Given the description of an element on the screen output the (x, y) to click on. 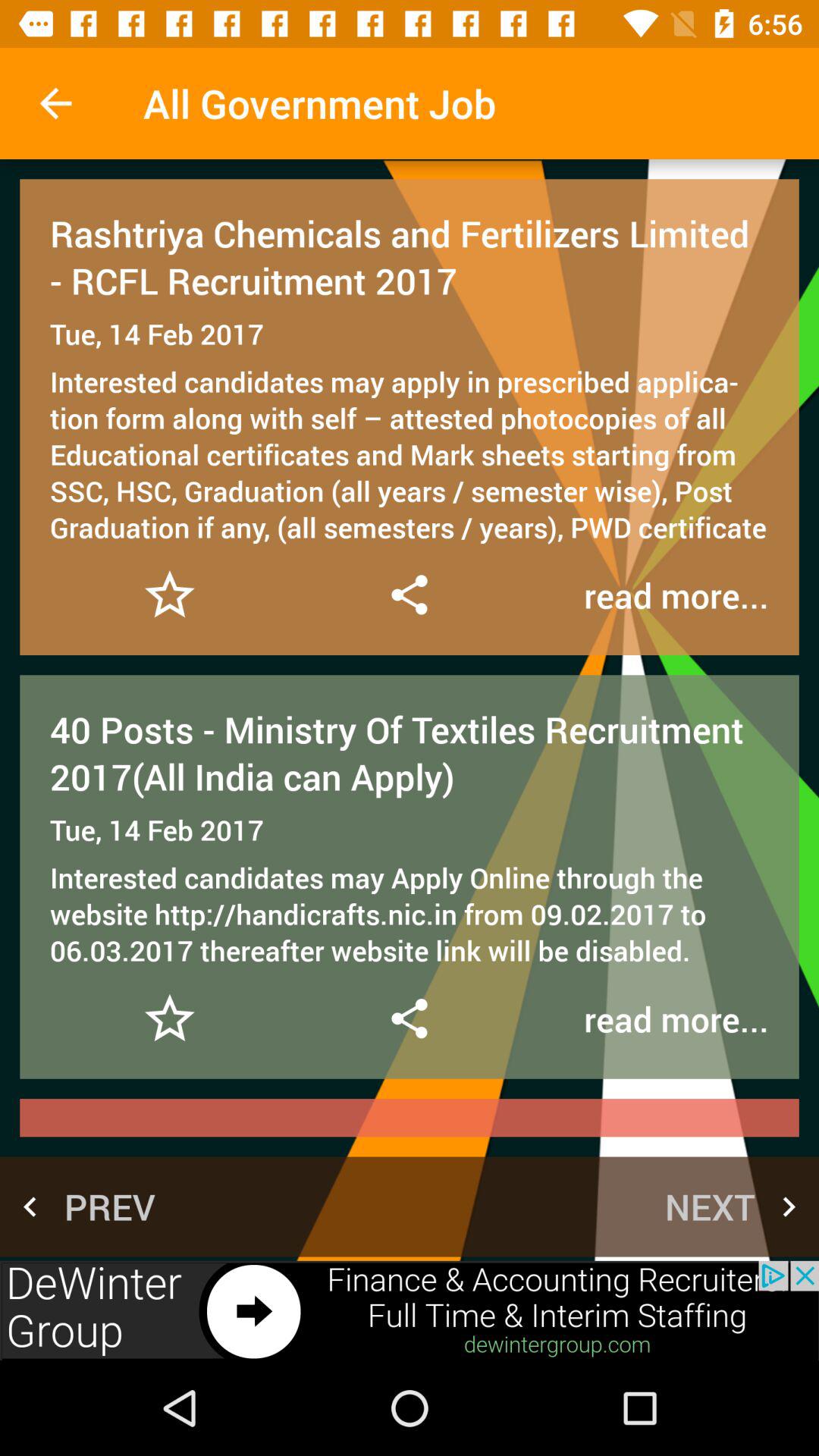
share information (408, 594)
